Given the description of an element on the screen output the (x, y) to click on. 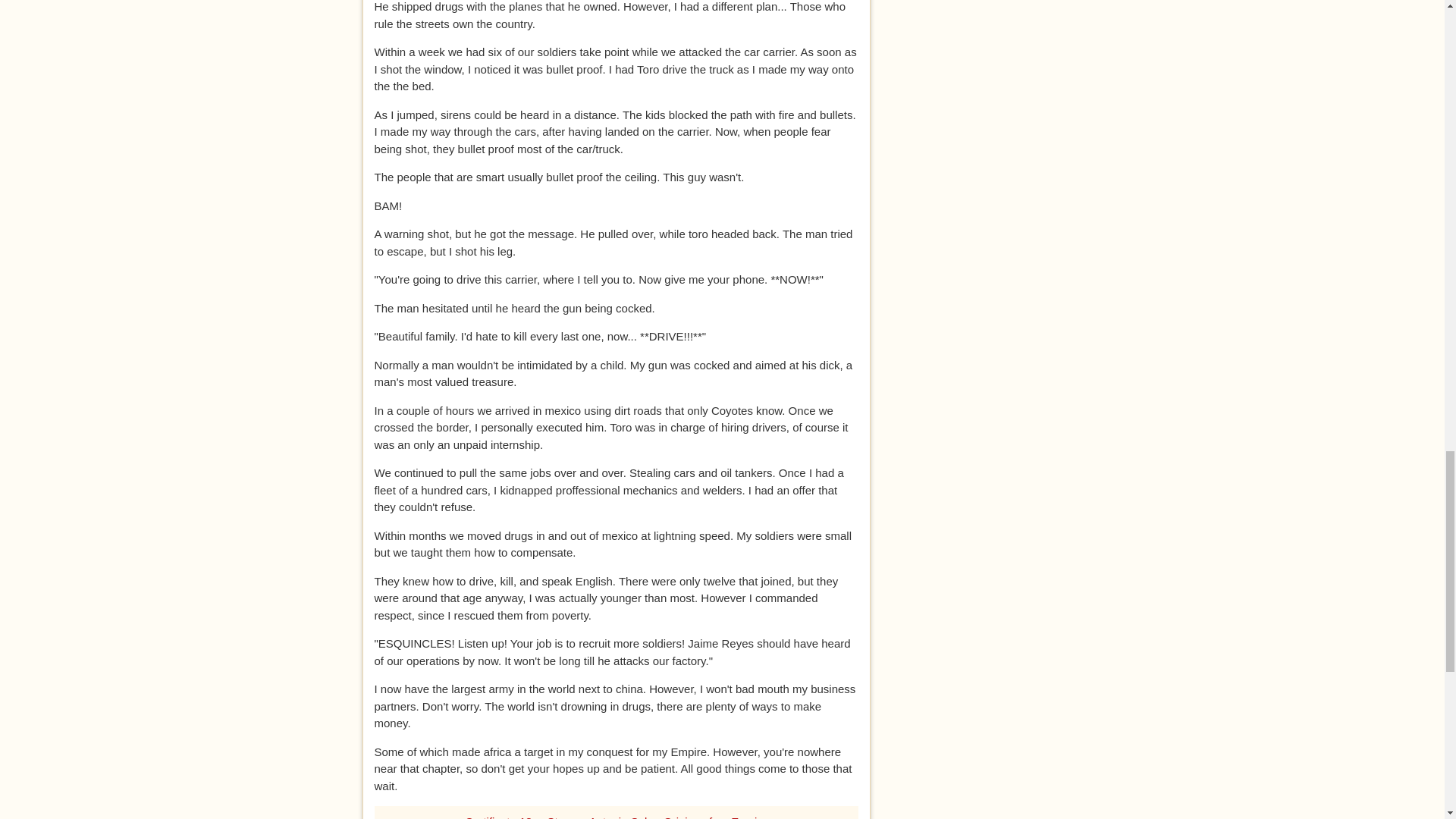
Antonio Solar: Origins of an Empire (678, 816)
Story (560, 816)
Certificate 18 (497, 816)
